Given the description of an element on the screen output the (x, y) to click on. 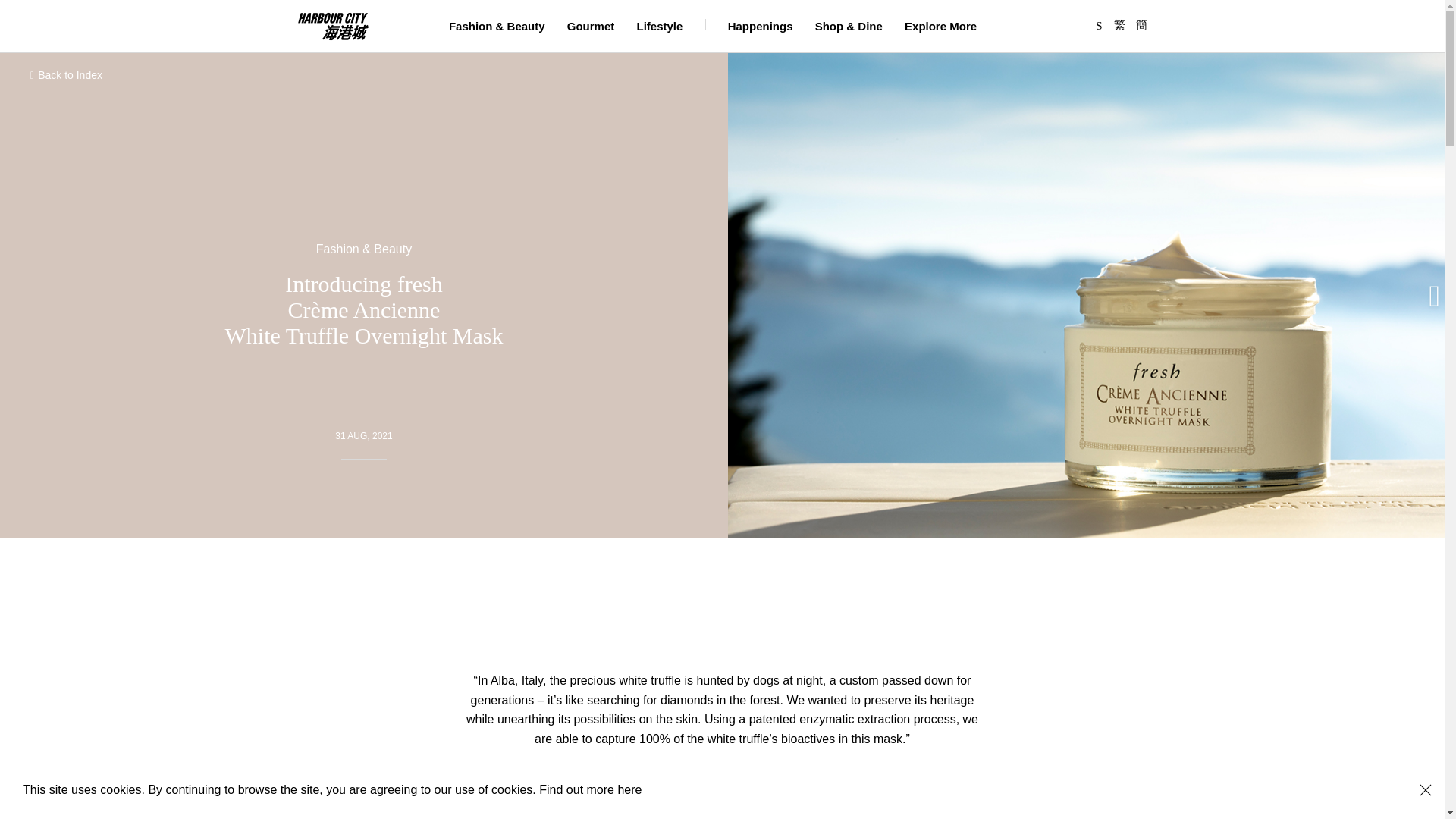
Explore More (940, 25)
Gourmet (590, 25)
Lifestyle (659, 25)
Find out more here (590, 789)
Happenings (760, 25)
